Given the description of an element on the screen output the (x, y) to click on. 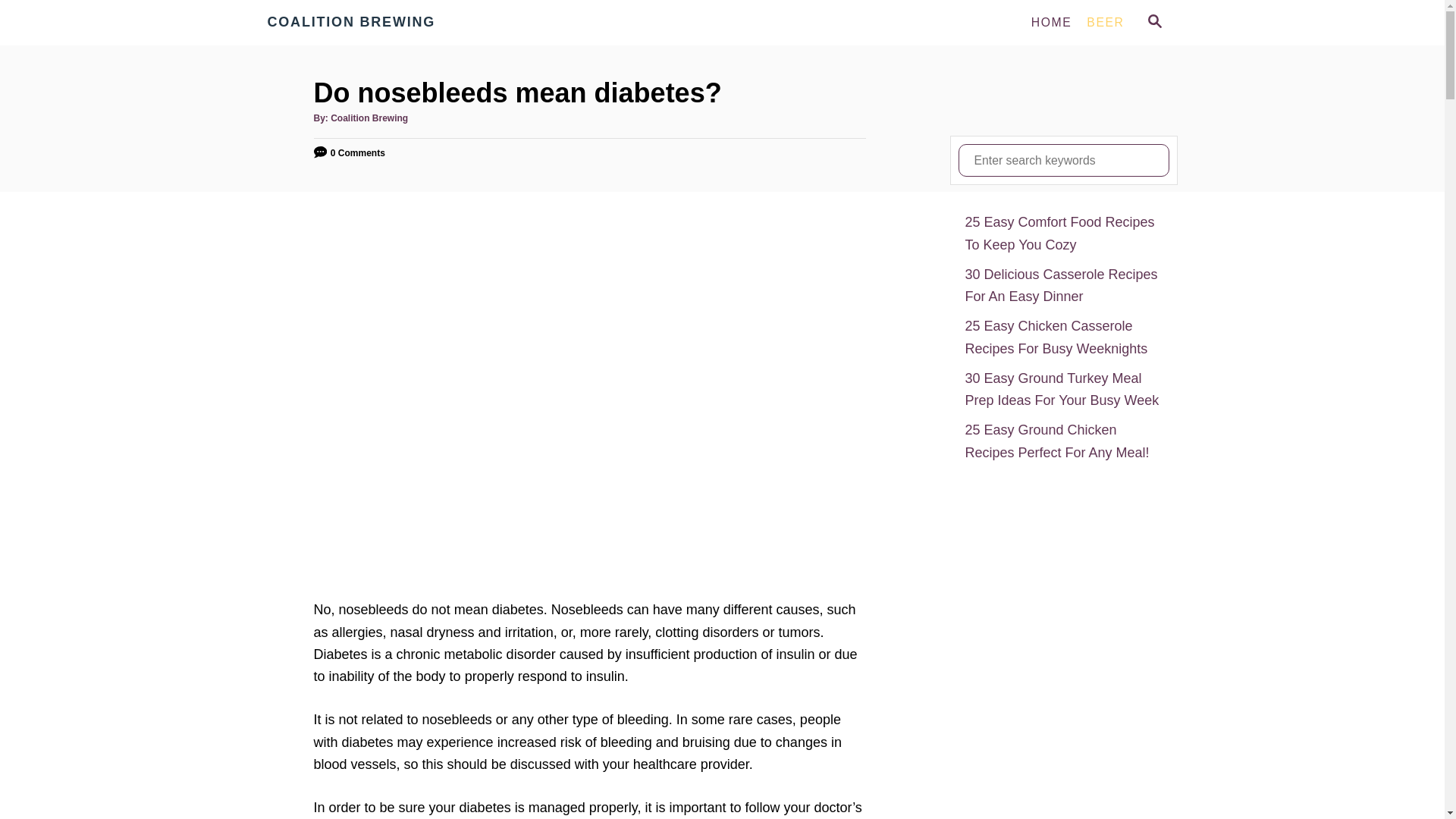
Search for: (1063, 160)
Coalition Brewing (403, 22)
25 Easy Chicken Casserole Recipes For Busy Weeknights (1062, 337)
BEER (1104, 22)
COALITION BREWING (403, 22)
25 Easy Ground Chicken Recipes Perfect For Any Meal! (1062, 441)
25 Easy Comfort Food Recipes To Keep You Cozy (1062, 234)
Coalition Brewing (368, 118)
HOME (1051, 22)
